Given the description of an element on the screen output the (x, y) to click on. 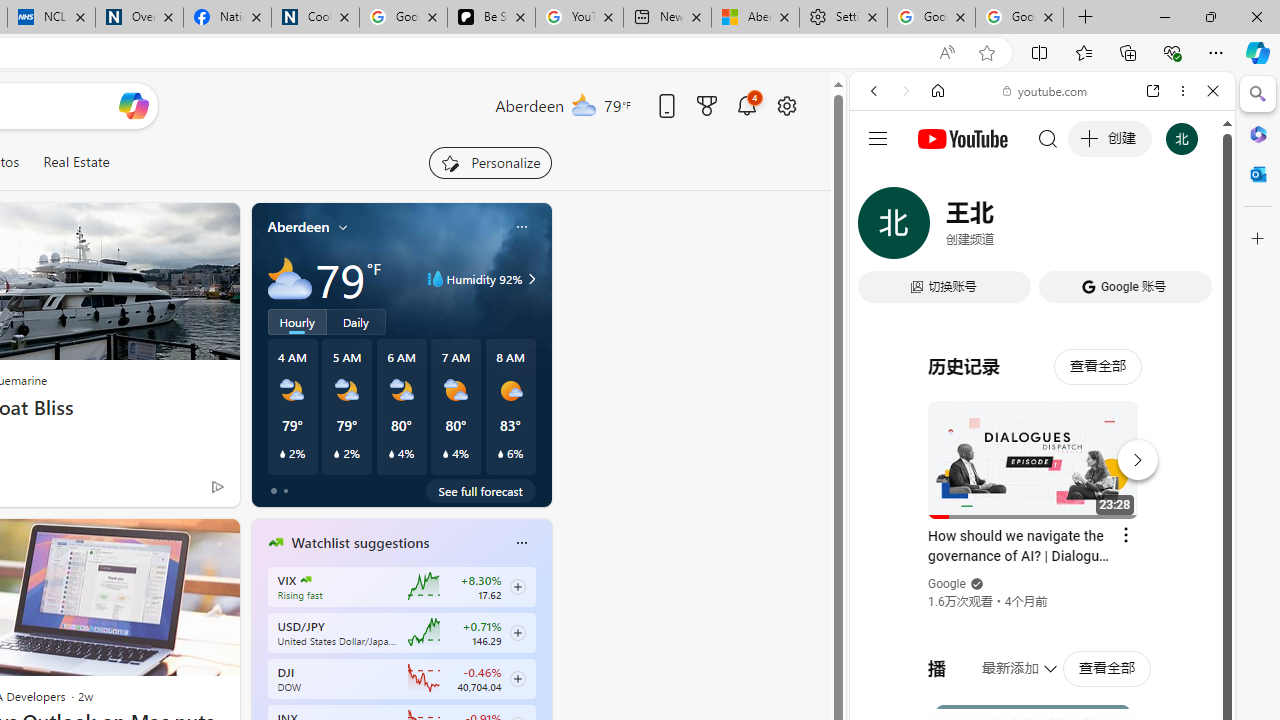
#you (1042, 445)
Preferences (1189, 228)
Settings (843, 17)
Web scope (882, 180)
Be Smart | creating Science videos | Patreon (491, 17)
